Given the description of an element on the screen output the (x, y) to click on. 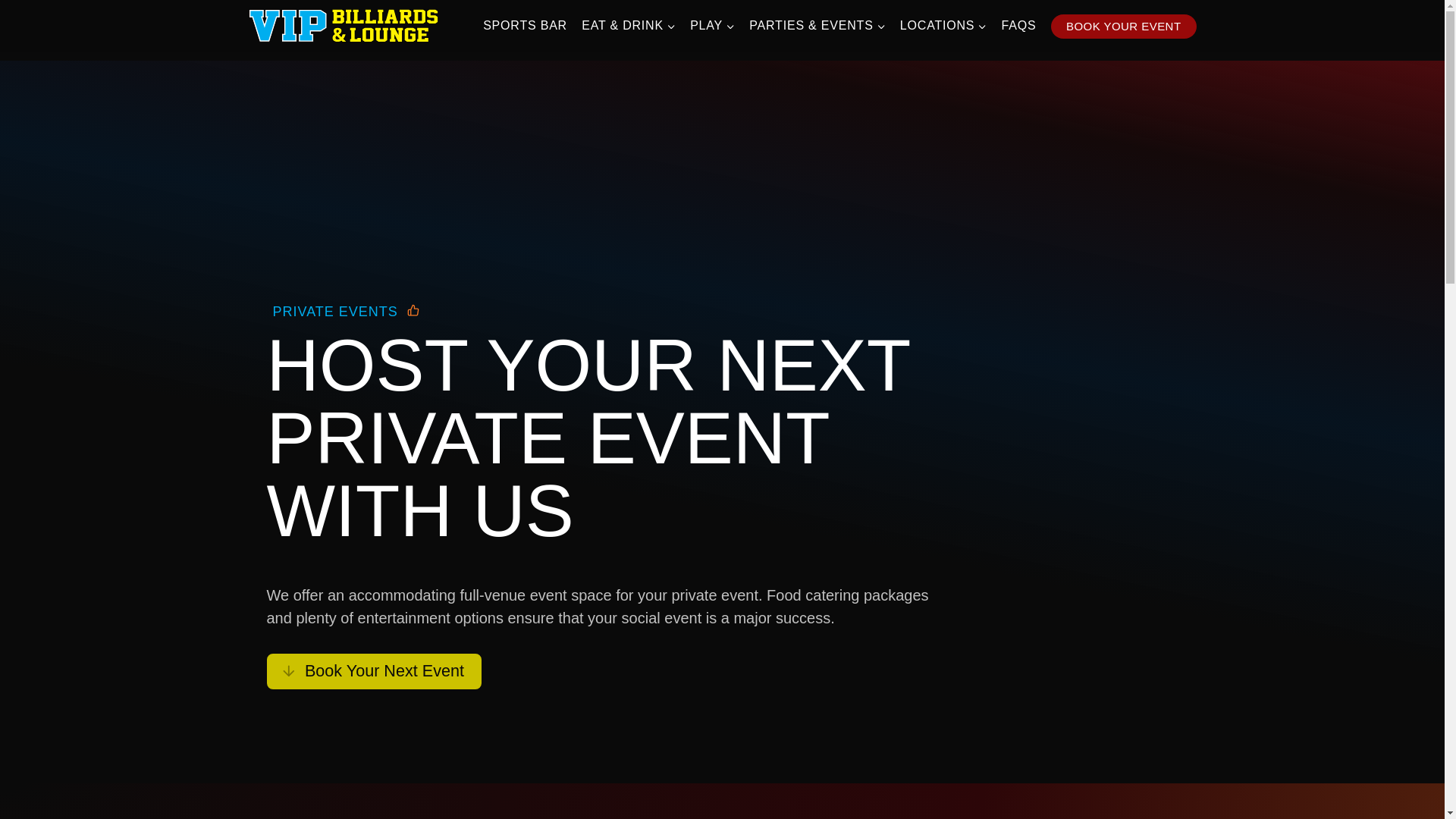
PLAY (712, 25)
BOOK YOUR EVENT (1123, 25)
Book Your Next Event (373, 671)
LOCATIONS (943, 25)
FAQS (1018, 25)
SPORTS BAR (525, 25)
